Given the description of an element on the screen output the (x, y) to click on. 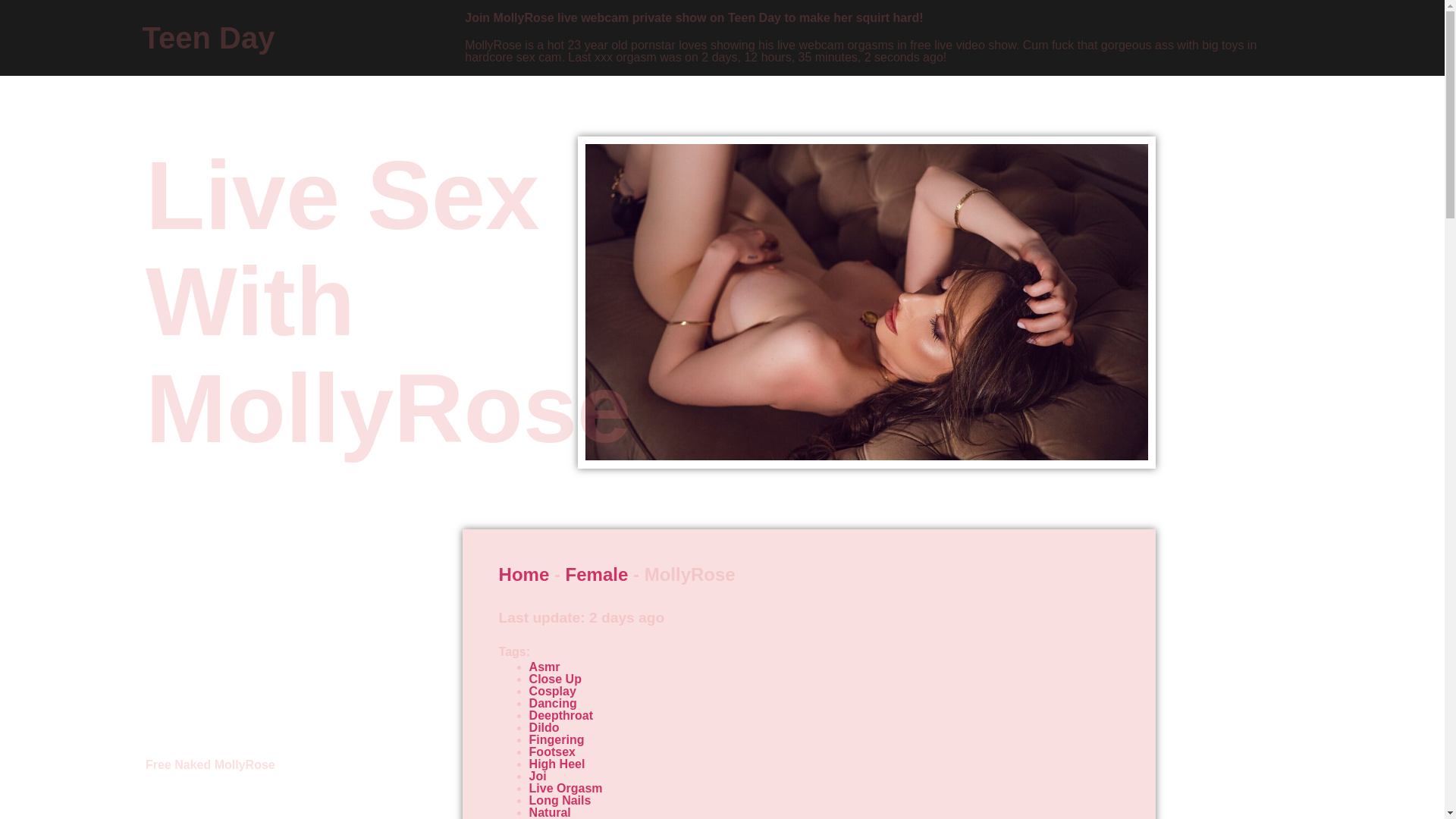
Footsex (552, 751)
Long Nails (560, 799)
Teen Day (208, 37)
High Heel (557, 763)
Cosplay (552, 690)
Teen Day (208, 37)
Deepthroat (560, 715)
Live Orgasm (565, 788)
Free Naked MollyRose (210, 764)
Natural (549, 812)
Joi (538, 775)
Cosplay (552, 690)
Home (524, 574)
Natural (549, 812)
